Given the description of an element on the screen output the (x, y) to click on. 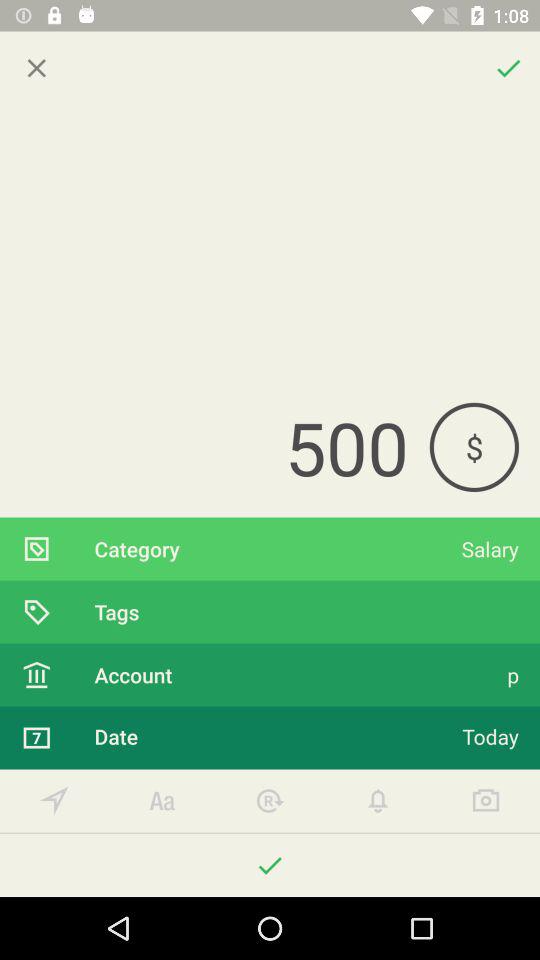
launch $ on the right (474, 446)
